Given the description of an element on the screen output the (x, y) to click on. 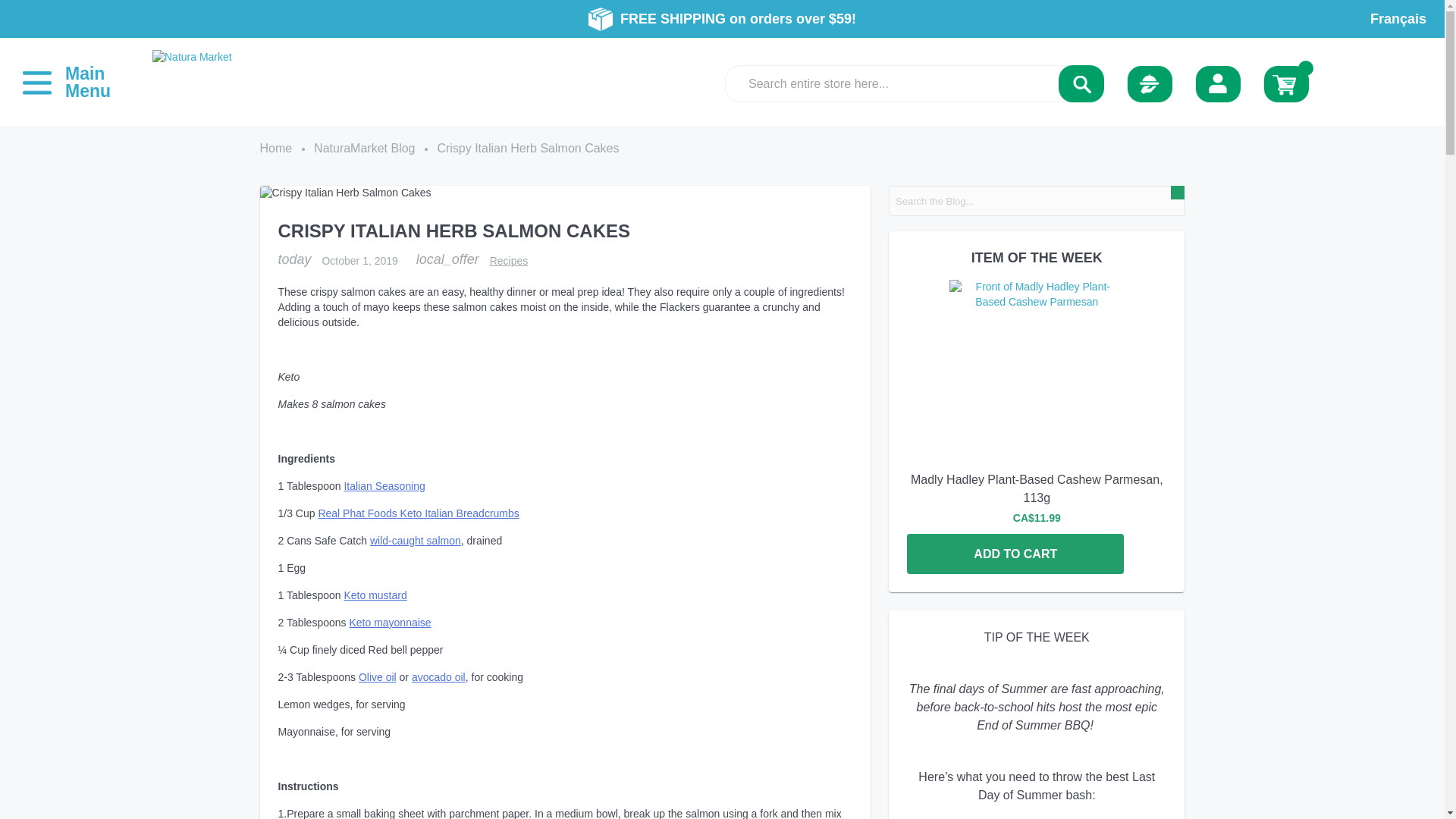
Natura Market (191, 74)
Blog (1149, 83)
Search (1080, 87)
Search (1080, 87)
Natura Market (191, 56)
